Given the description of an element on the screen output the (x, y) to click on. 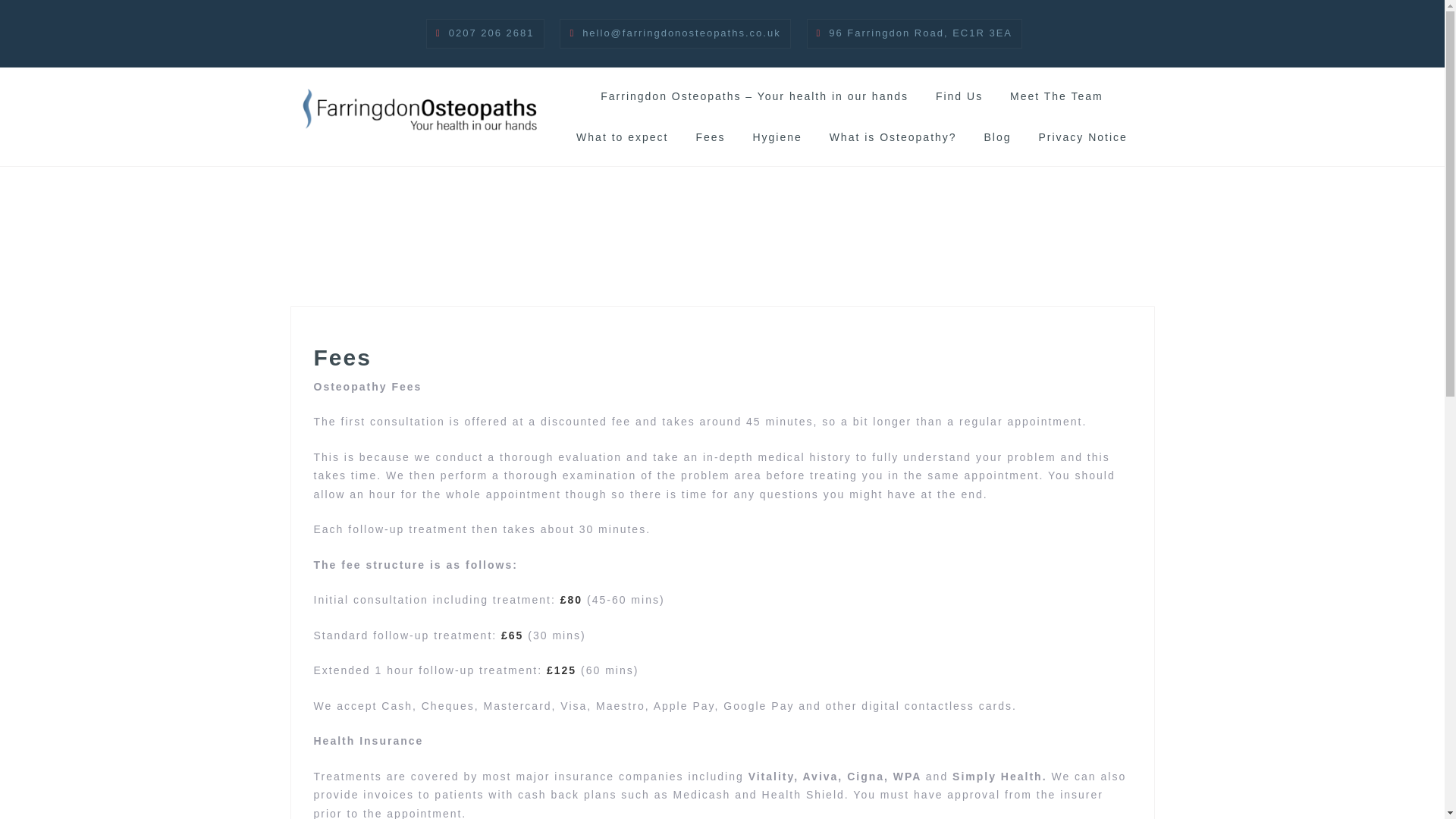
Hygiene (776, 137)
Fees (710, 137)
Find Us (959, 96)
Privacy Notice (1082, 137)
Meet The Team (1056, 96)
What is Osteopathy? (893, 137)
What to expect (621, 137)
Blog (997, 137)
